Given the description of an element on the screen output the (x, y) to click on. 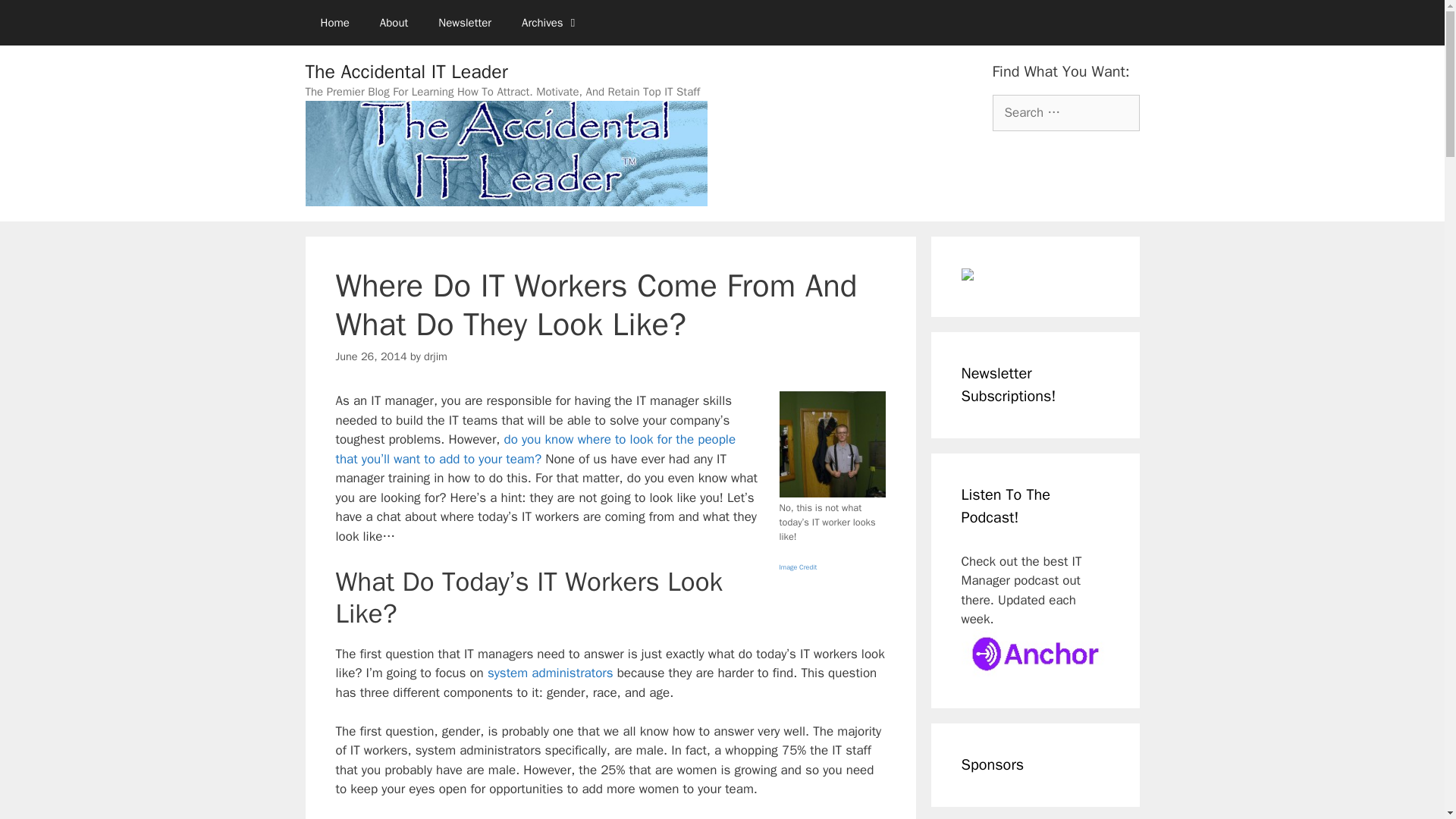
Search (35, 18)
The Accidental IT Leader (405, 71)
Image Credit (797, 565)
 How To Use A Decision Matrix As Part Of The Hiring Process  (534, 448)
drjim (434, 356)
Search for: (1064, 113)
What is a system administrator? (549, 672)
About (394, 22)
Home (334, 22)
Archives (550, 22)
Newsletter (464, 22)
system administrators (549, 672)
View all posts by drjim (434, 356)
